Given the description of an element on the screen output the (x, y) to click on. 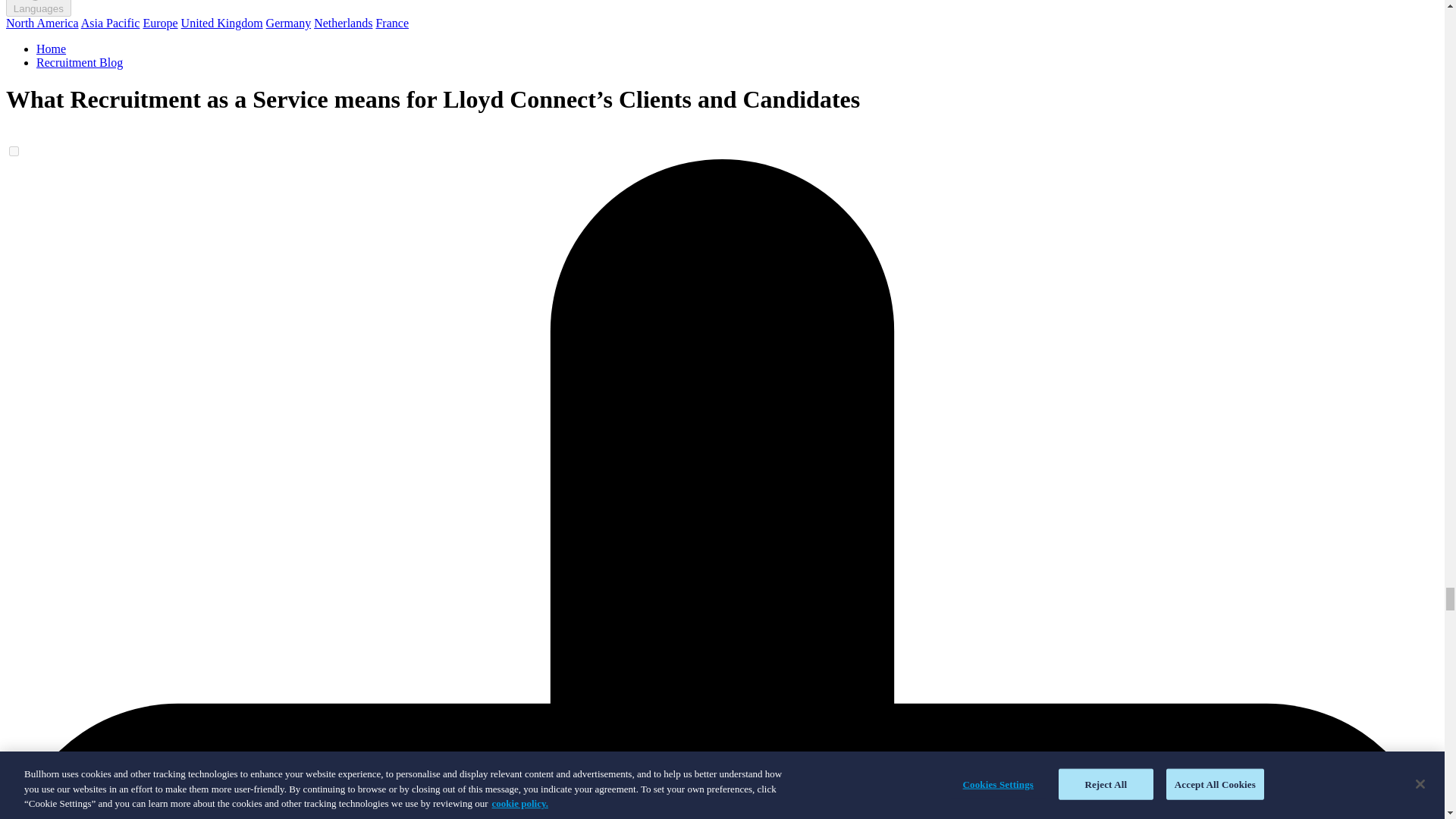
on (13, 151)
